Given the description of an element on the screen output the (x, y) to click on. 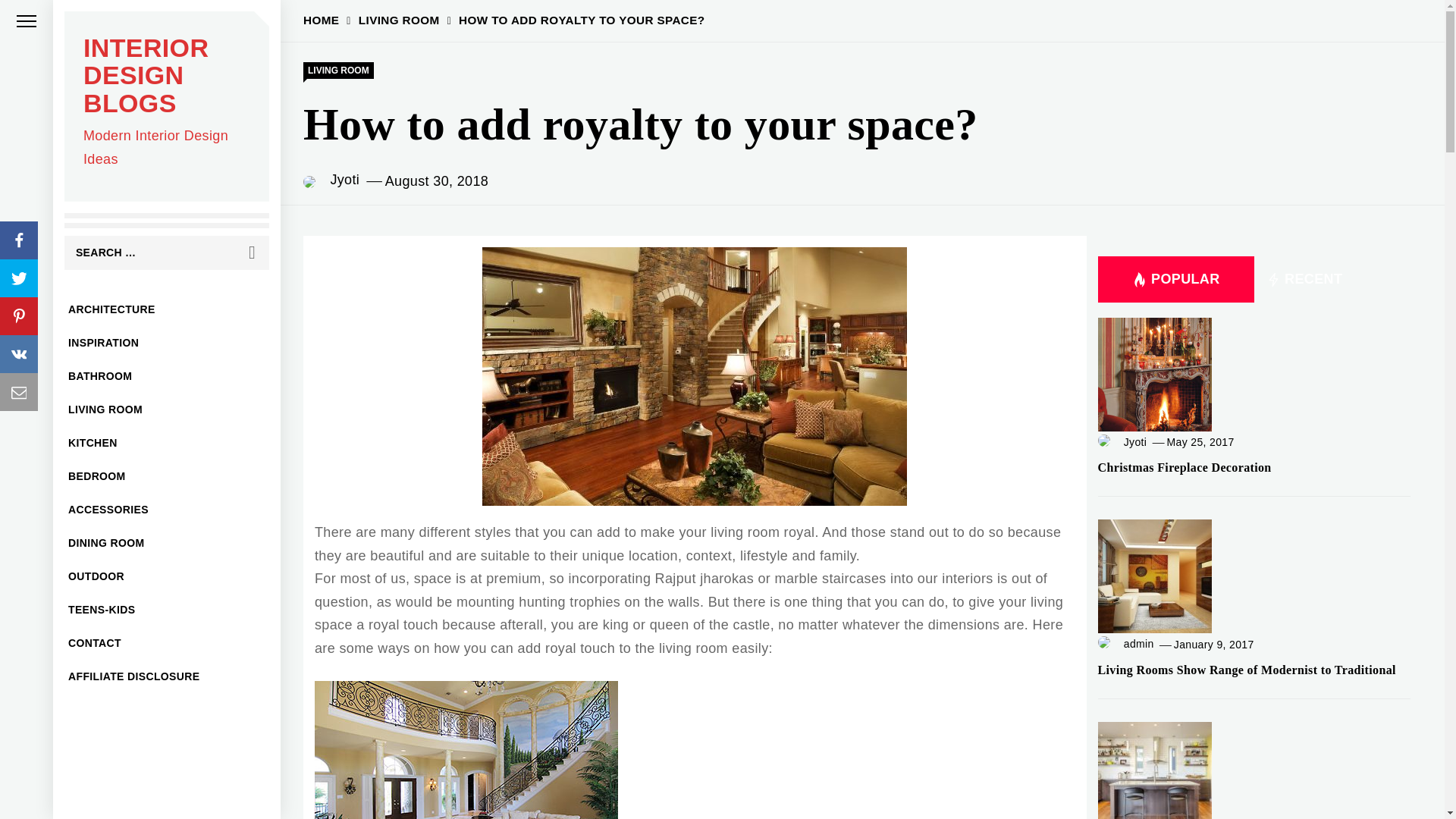
HOME (320, 19)
LIVING ROOM (166, 409)
Search (251, 252)
Search (251, 252)
Share on Facebook (18, 240)
August 30, 2018 (437, 181)
How to add royalty to your space? (465, 749)
LIVING ROOM (338, 70)
CONTACT (166, 643)
INTERIOR DESIGN BLOGS (145, 75)
